Given the description of an element on the screen output the (x, y) to click on. 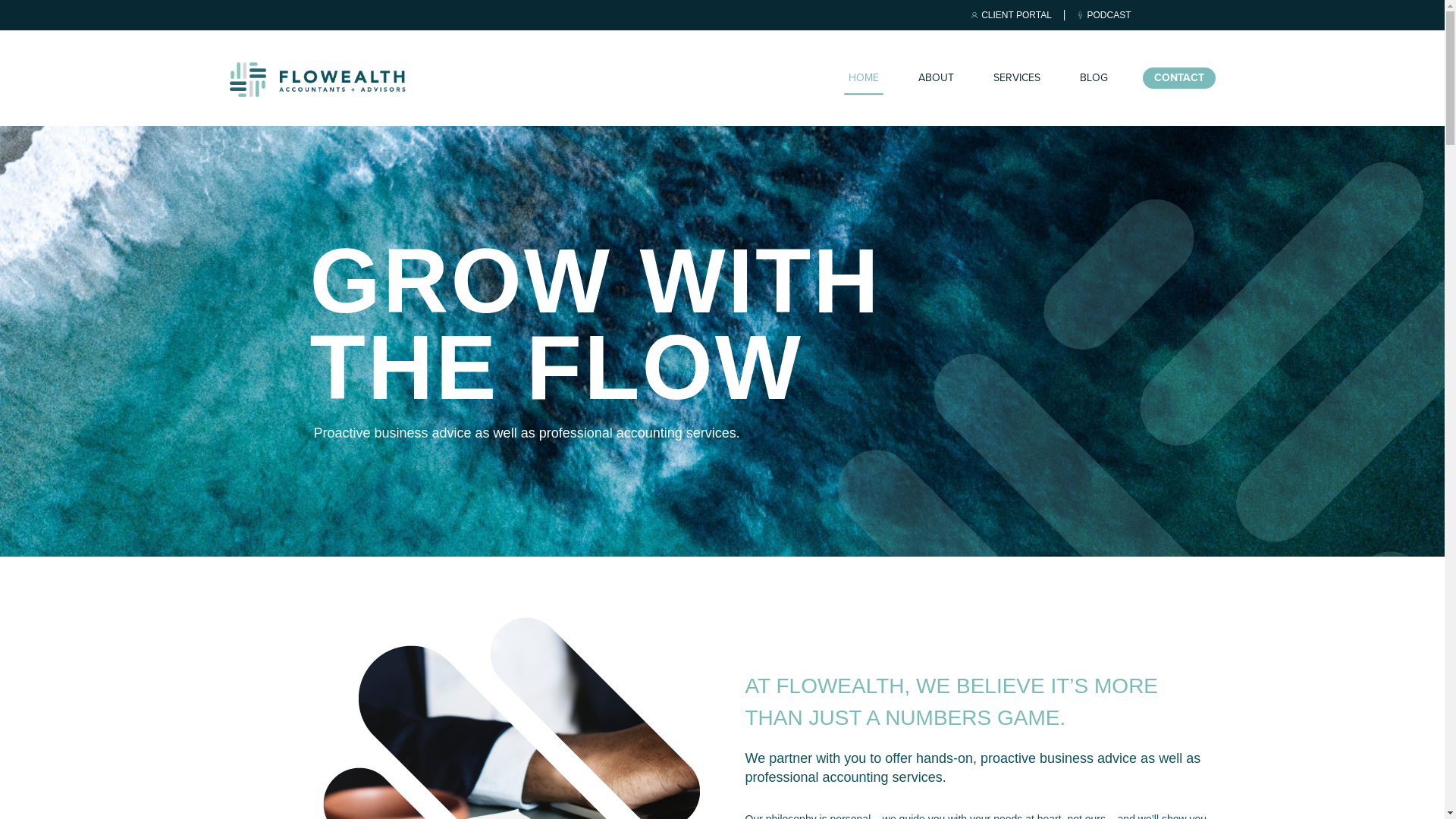
SERVICES Element type: text (1016, 77)
HOME Element type: text (862, 77)
BLOG Element type: text (1093, 77)
CLIENT PORTAL Element type: text (1011, 14)
PODCAST Element type: text (1103, 14)
CONTACT Element type: text (1178, 77)
ABOUT Element type: text (935, 77)
